Given the description of an element on the screen output the (x, y) to click on. 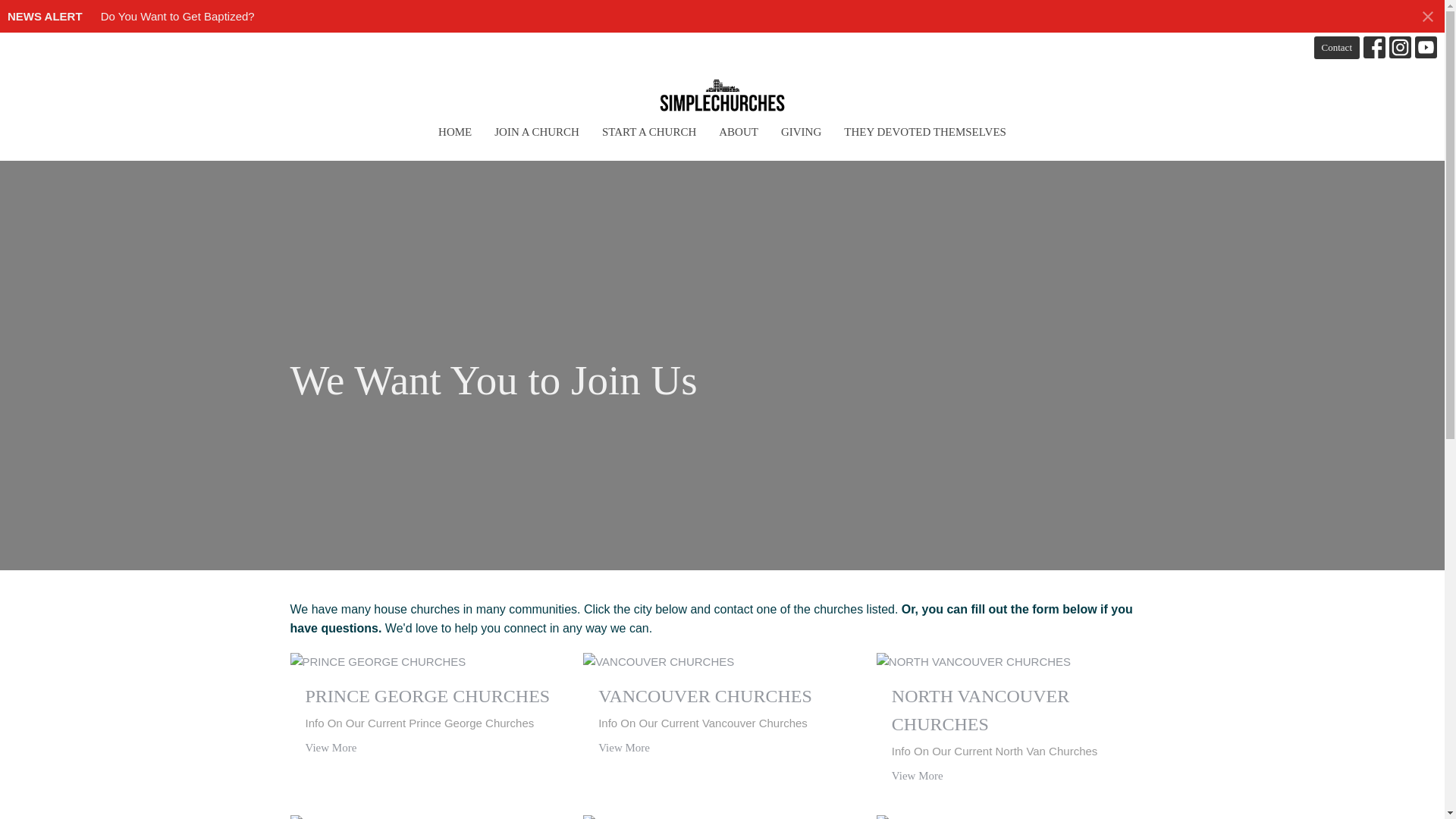
HOME (454, 131)
NORTH VANCOUVER CHURCHES (1015, 710)
PRINCE GEORGE CHURCHES (428, 696)
Contact (1336, 47)
VANCOUVER CHURCHES (721, 696)
GIVING (800, 131)
THEY DEVOTED THEMSELVES (925, 131)
START A CHURCH (648, 131)
JOIN A CHURCH (537, 131)
Do You Want to Get Baptized? (177, 15)
